Given the description of an element on the screen output the (x, y) to click on. 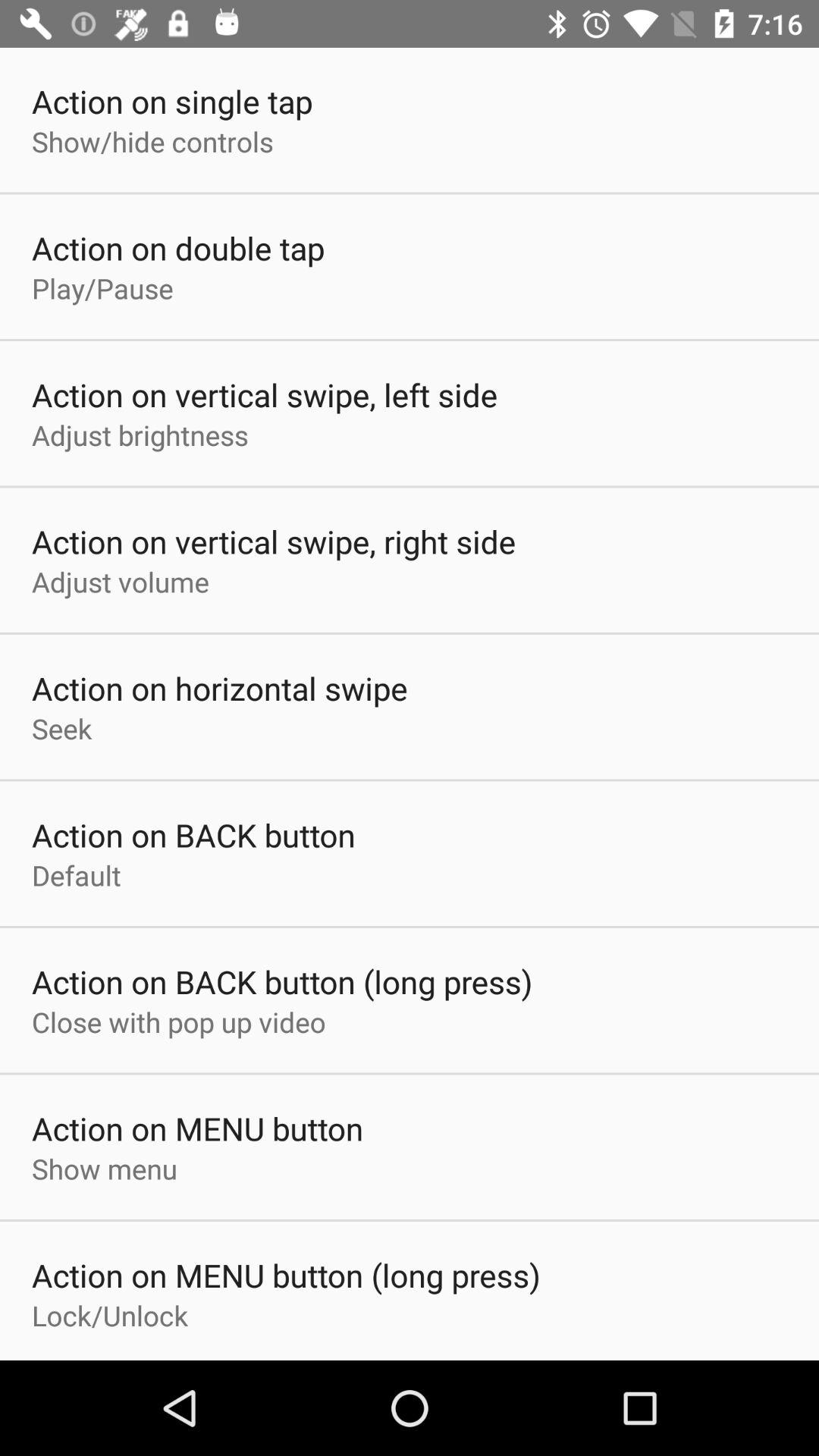
jump to default (76, 875)
